Given the description of an element on the screen output the (x, y) to click on. 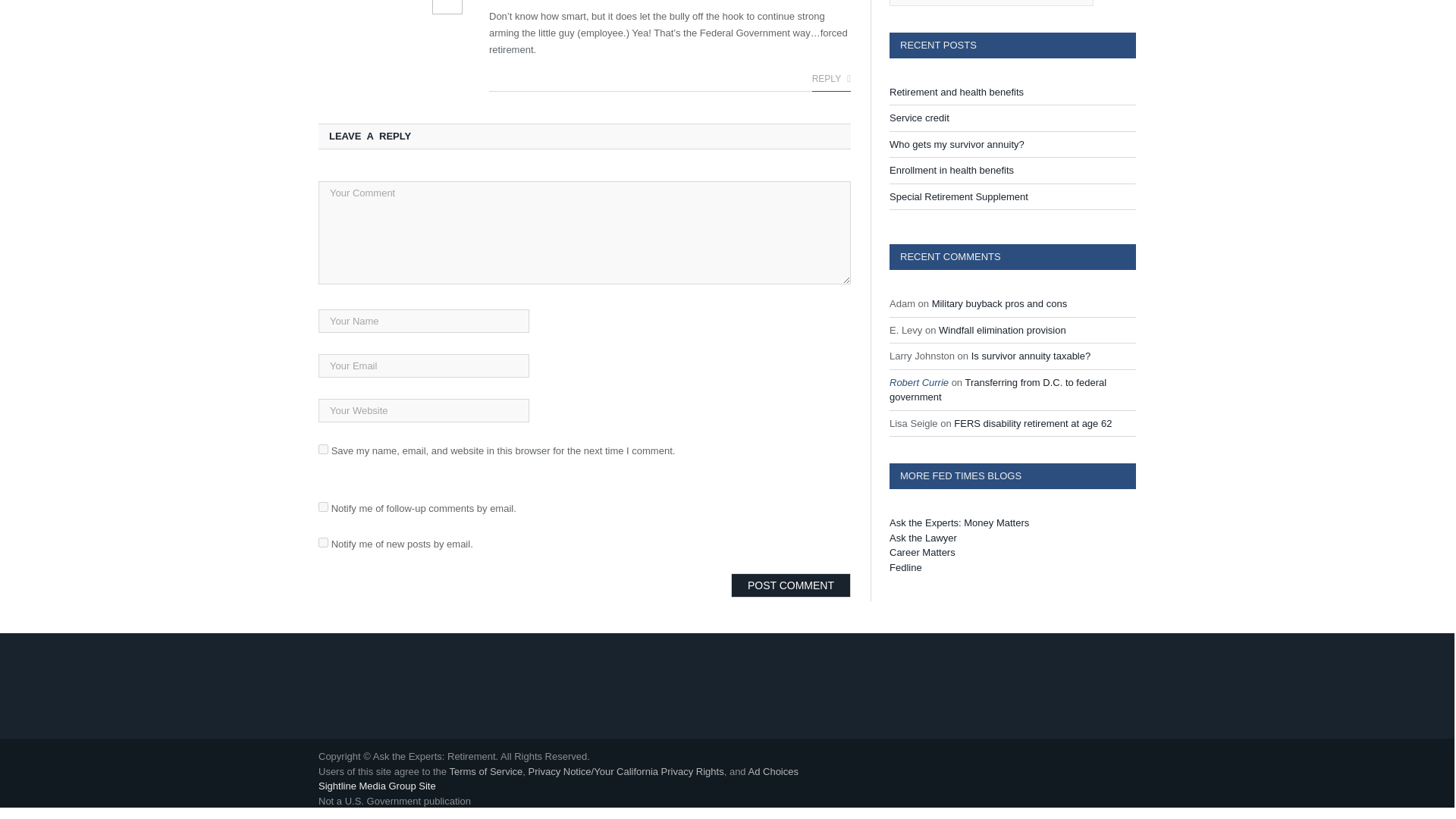
subscribe (323, 542)
Post Comment (790, 585)
subscribe (323, 506)
yes (323, 449)
